Given the description of an element on the screen output the (x, y) to click on. 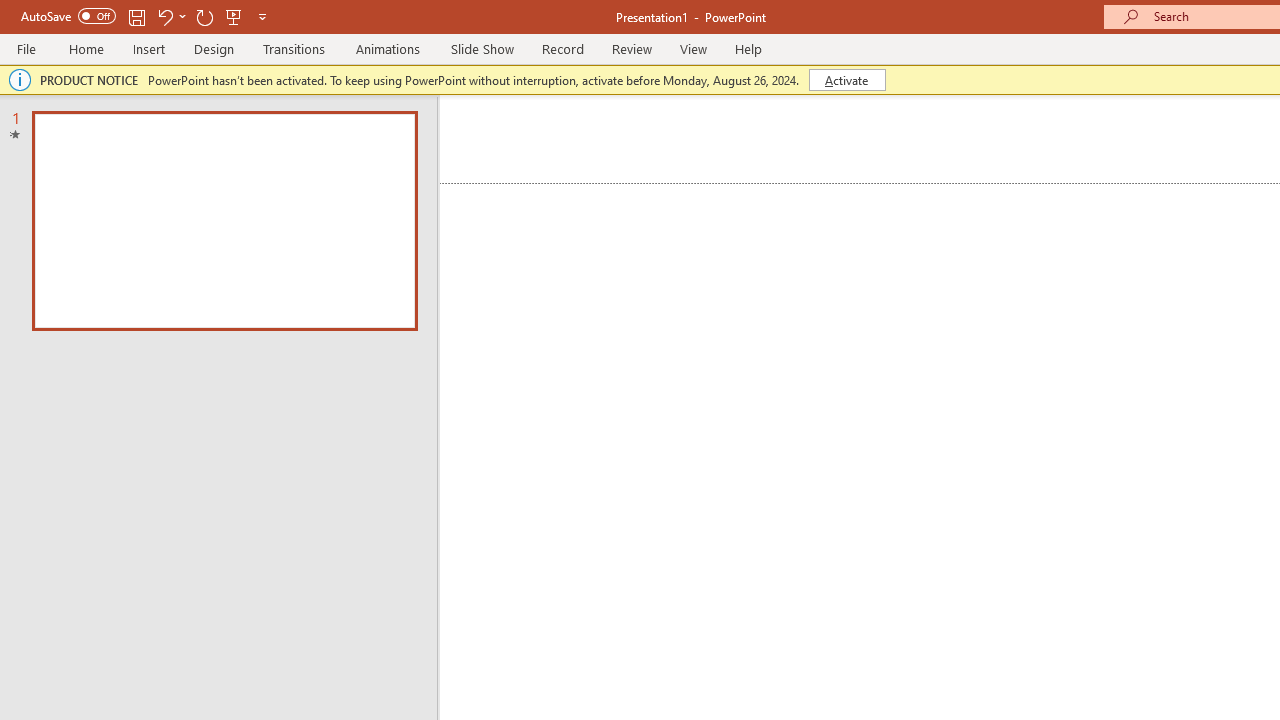
Review (631, 48)
View (693, 48)
More Options (182, 15)
Redo (204, 15)
File Tab (26, 48)
Transitions (294, 48)
Activate (846, 79)
Save (136, 15)
Help (748, 48)
Animations (388, 48)
